Given the description of an element on the screen output the (x, y) to click on. 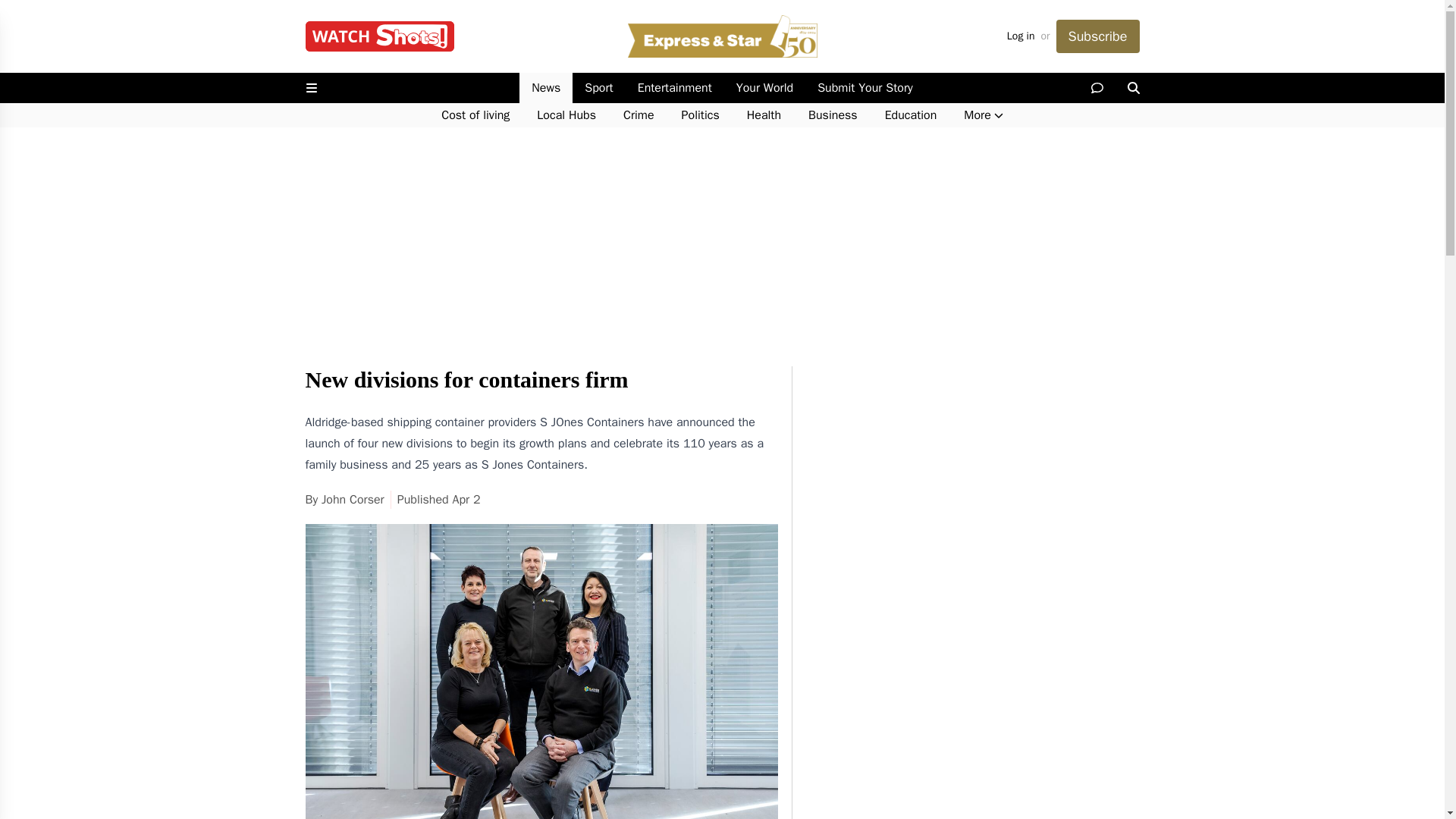
News (545, 87)
Politics (700, 115)
Subscribe (1096, 36)
Health (764, 115)
Log in (1021, 36)
Sport (598, 87)
Your World (764, 87)
Entertainment (674, 87)
Education (910, 115)
More (983, 115)
